Given the description of an element on the screen output the (x, y) to click on. 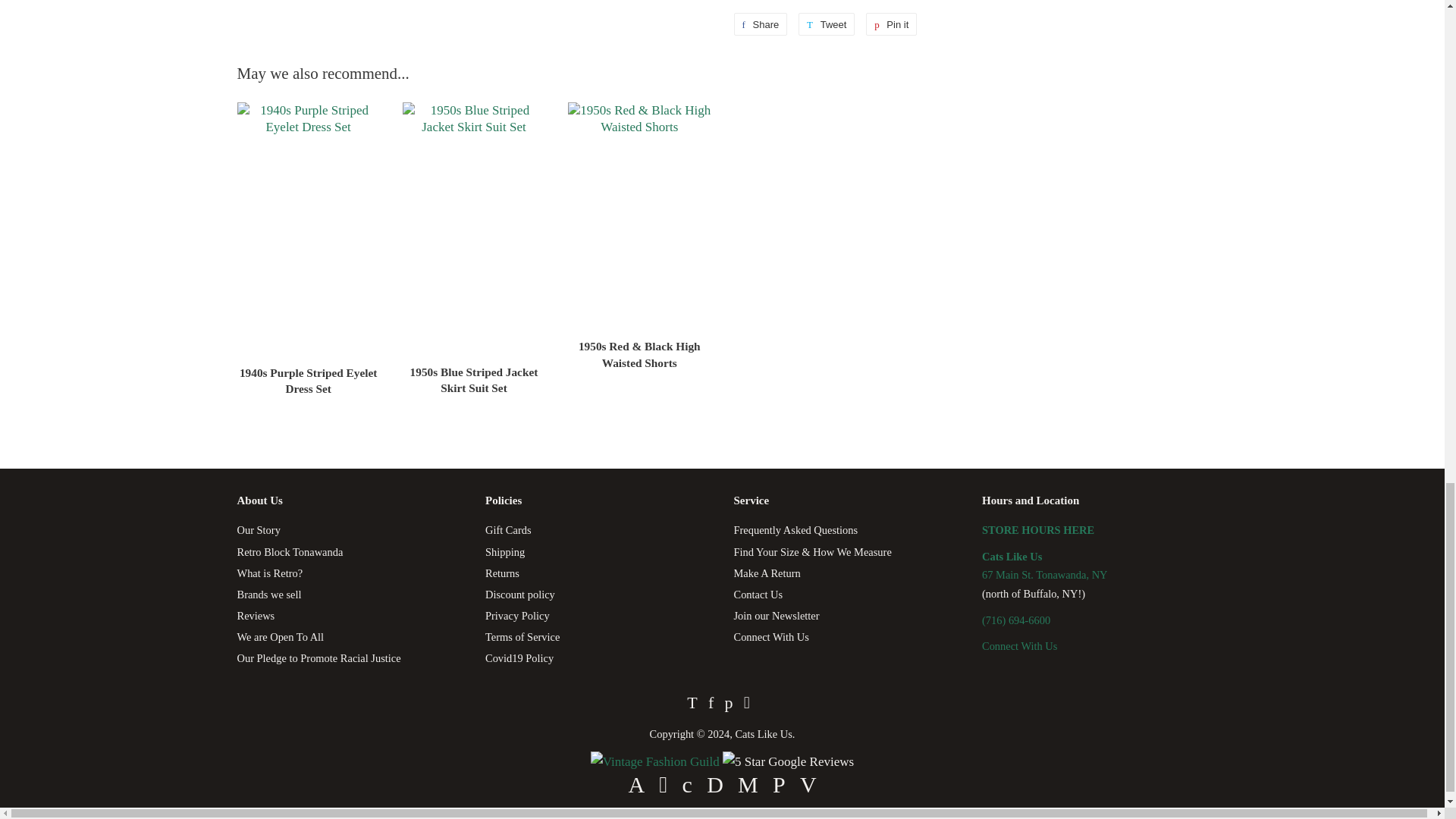
Read more (656, 761)
Boutique Hours (1037, 530)
Pin on Pinterest (891, 24)
Tweet on Twitter (825, 24)
Share on Facebook (760, 24)
Link Tree (1019, 645)
